Given the description of an element on the screen output the (x, y) to click on. 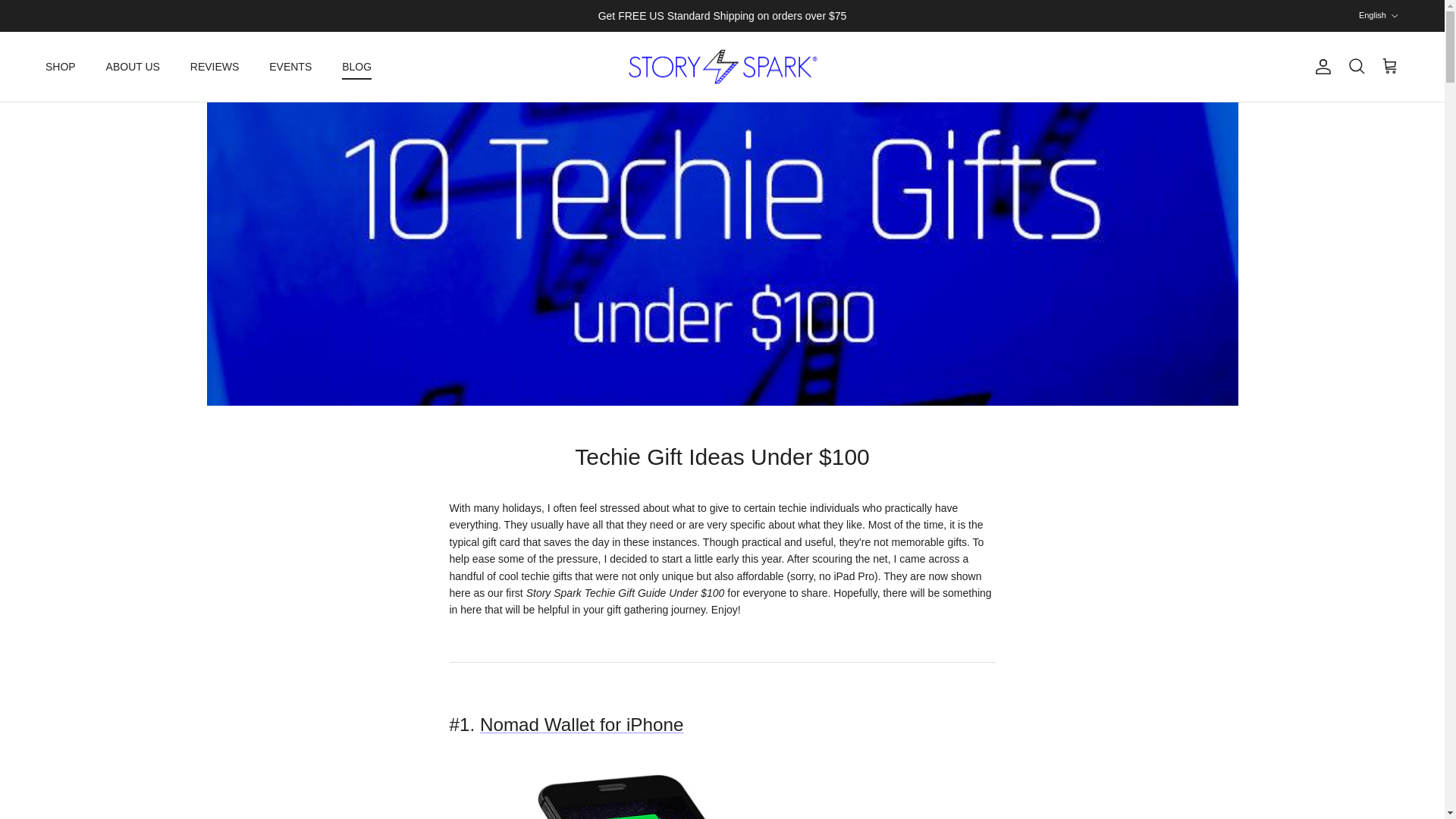
Nomad Wallet (582, 724)
SHOP (60, 66)
English (1378, 15)
EVENTS (290, 66)
BLOG (357, 66)
Cart (1389, 66)
REVIEWS (214, 66)
ABOUT US (133, 66)
Account (1319, 66)
STORY SPARK (721, 66)
